Given the description of an element on the screen output the (x, y) to click on. 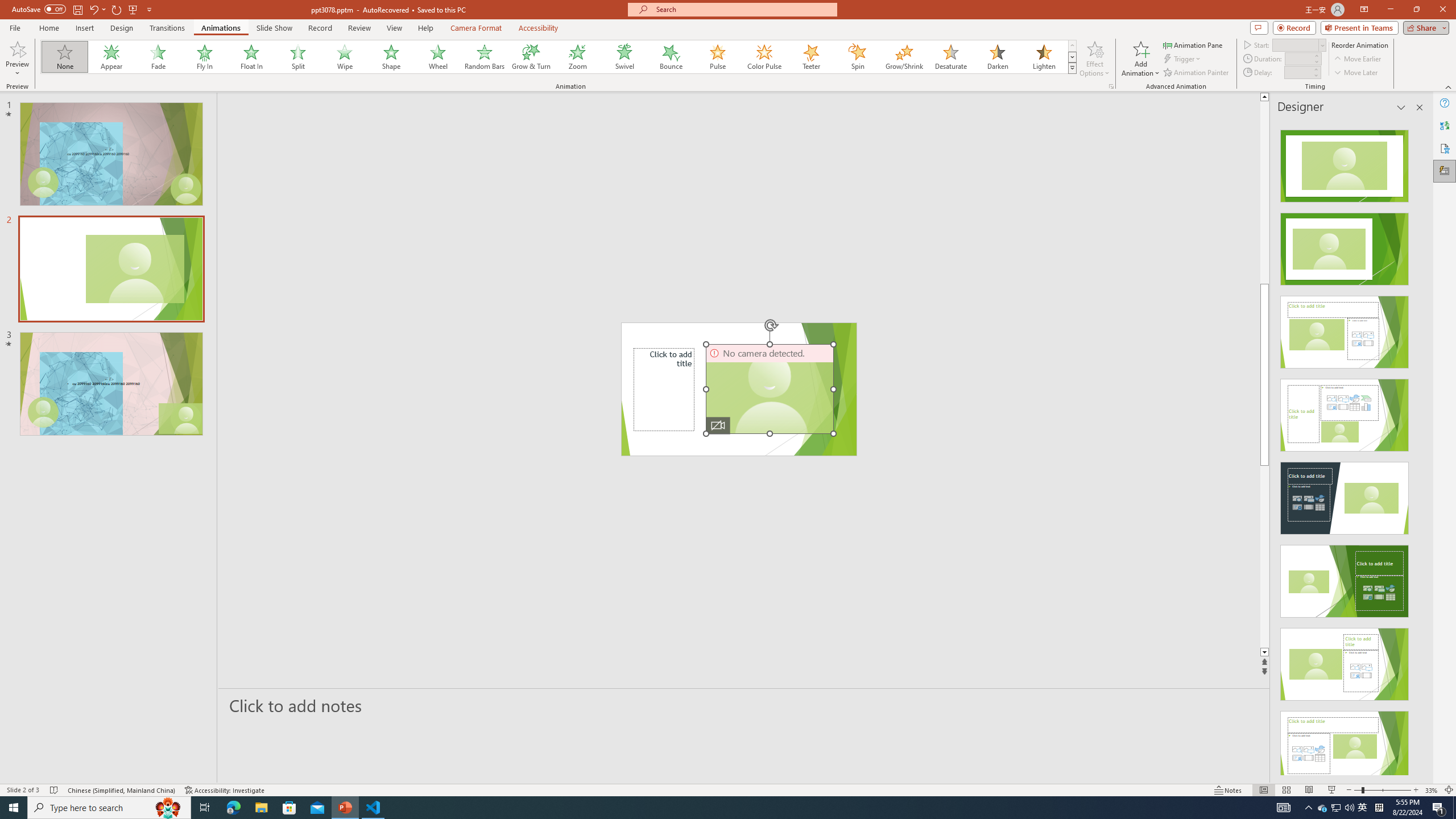
Recommended Design: Design Idea (1344, 162)
Darken (997, 56)
Spin (857, 56)
Camera Format (475, 28)
Animation Painter (1196, 72)
Animation Duration (1298, 58)
Grow/Shrink (903, 56)
AutomationID: AnimationGallery (558, 56)
Grow & Turn (531, 56)
